Given the description of an element on the screen output the (x, y) to click on. 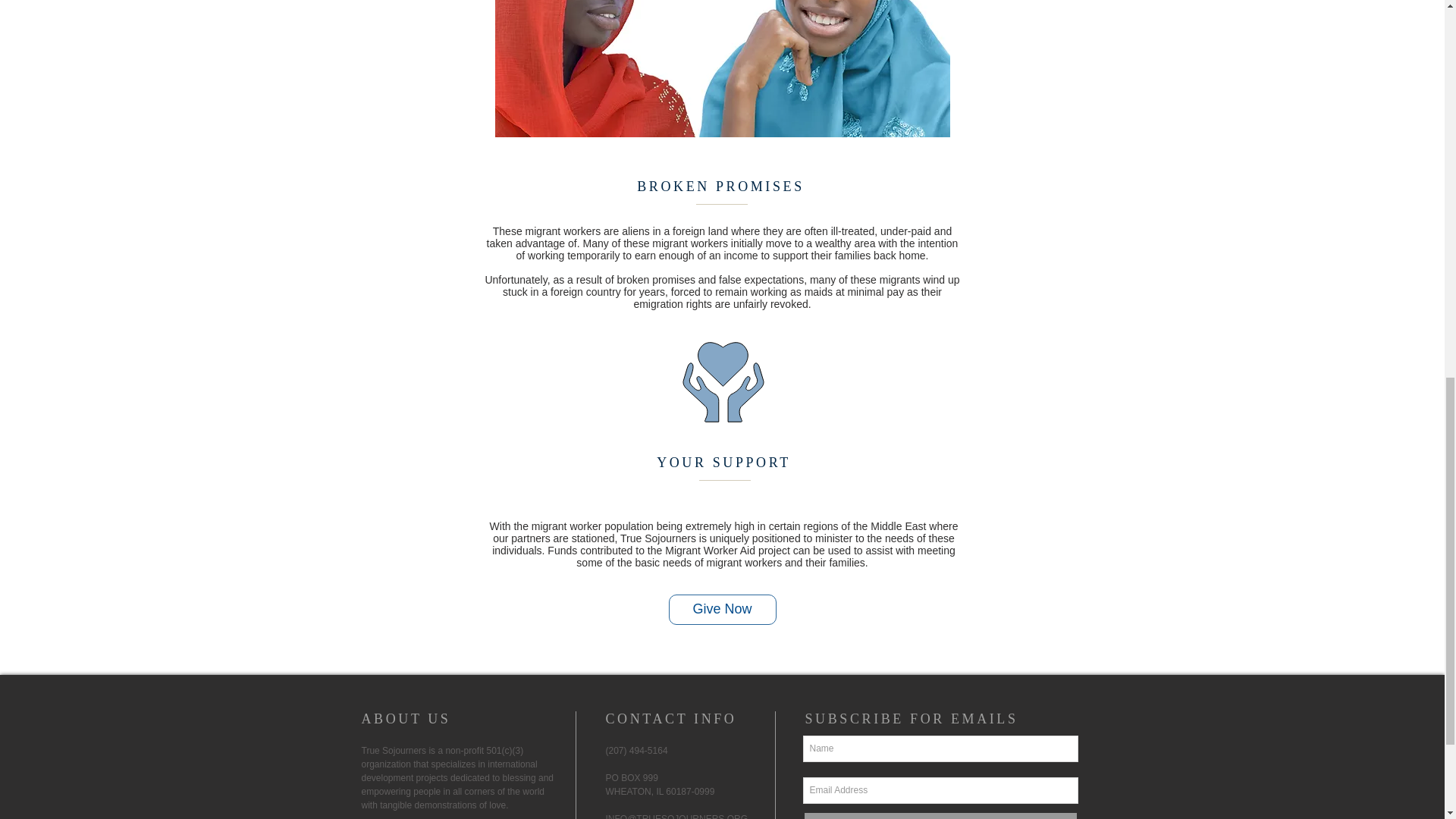
Give Now (722, 609)
Subscribe Now (939, 815)
Two Afro beauties wearing a veil, isolated.jpg (722, 68)
